Given the description of an element on the screen output the (x, y) to click on. 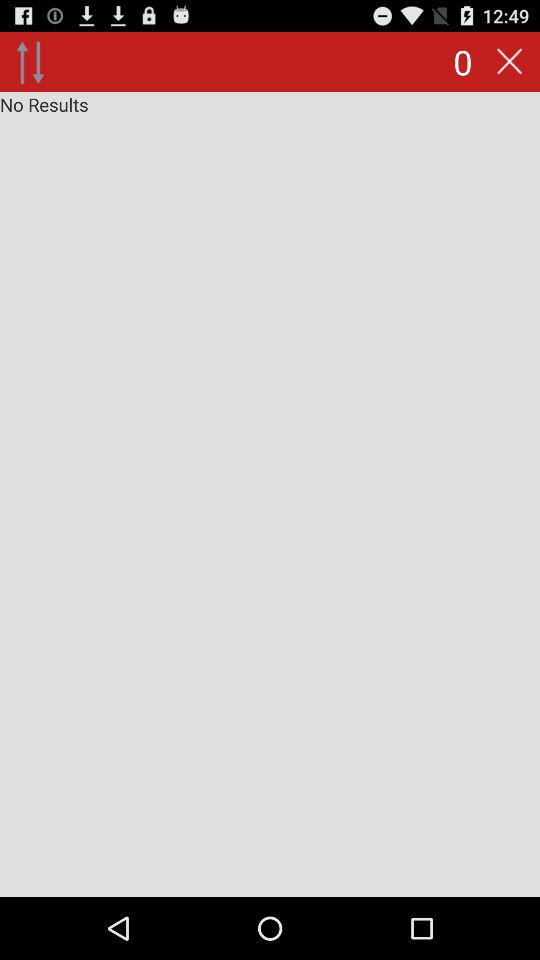
turn on icon to the right of the 0 (509, 61)
